Given the description of an element on the screen output the (x, y) to click on. 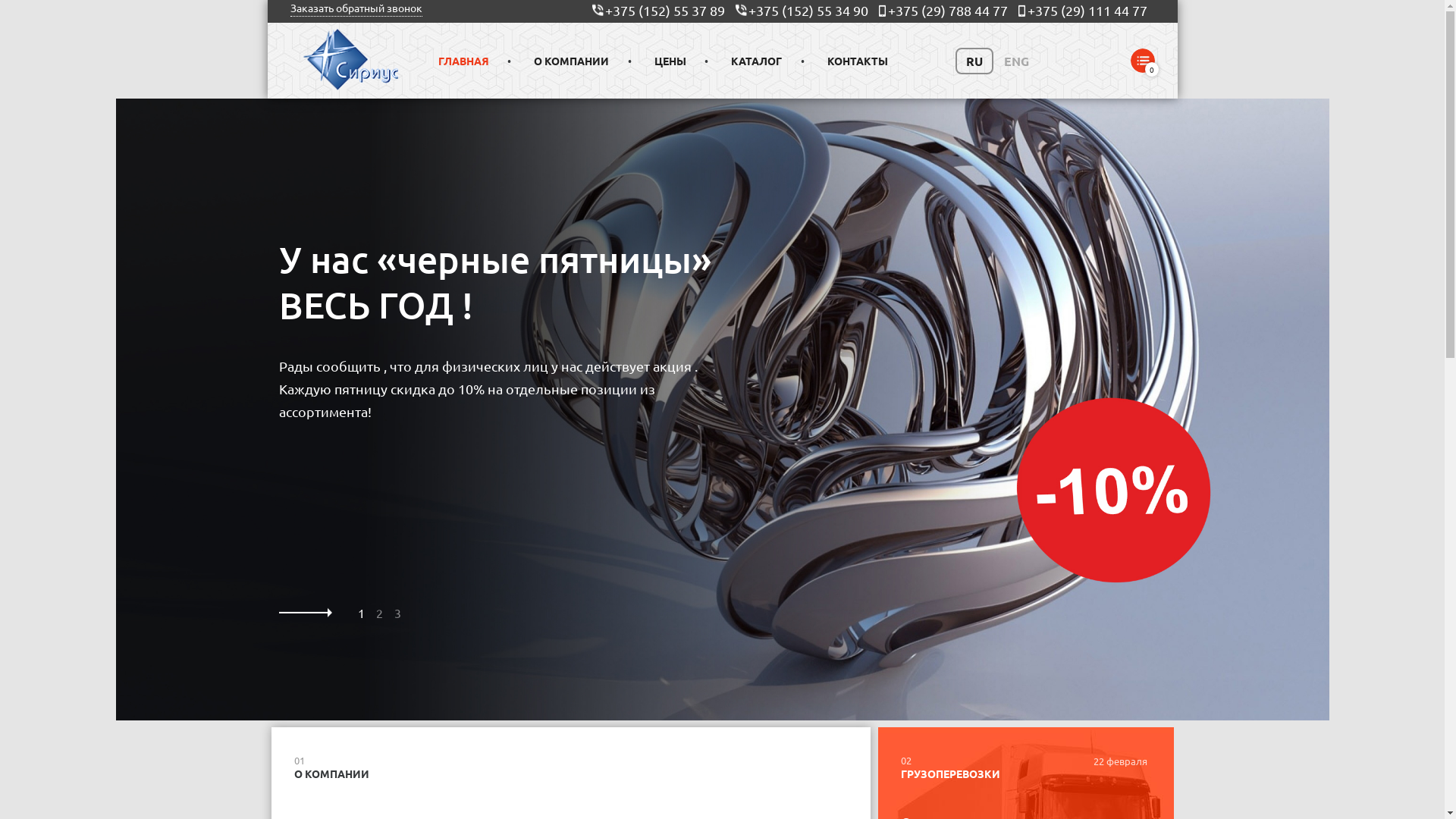
0 Element type: text (1141, 60)
RU Element type: text (974, 60)
Skip to content Element type: text (0, 0)
ENG Element type: text (1016, 60)
